Given the description of an element on the screen output the (x, y) to click on. 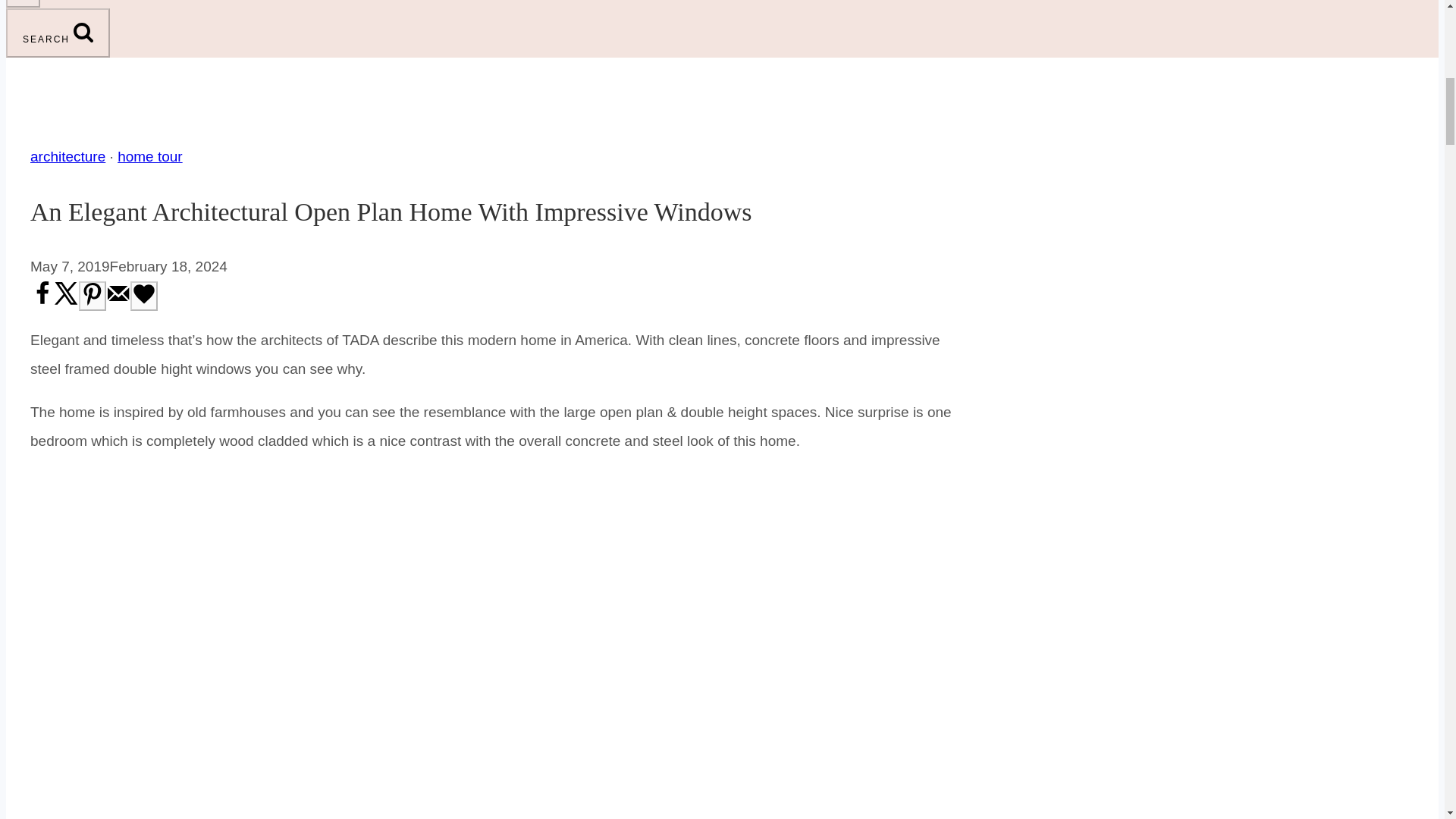
architecture (67, 156)
Share on X (66, 301)
Save to Pinterest (92, 296)
Send over email (118, 301)
Save on Grow.me (144, 296)
Share on Facebook (42, 301)
SEARCH (83, 31)
home tour (150, 156)
SEARCH SEARCH (57, 32)
TOGGLE MENU (22, 3)
